Given the description of an element on the screen output the (x, y) to click on. 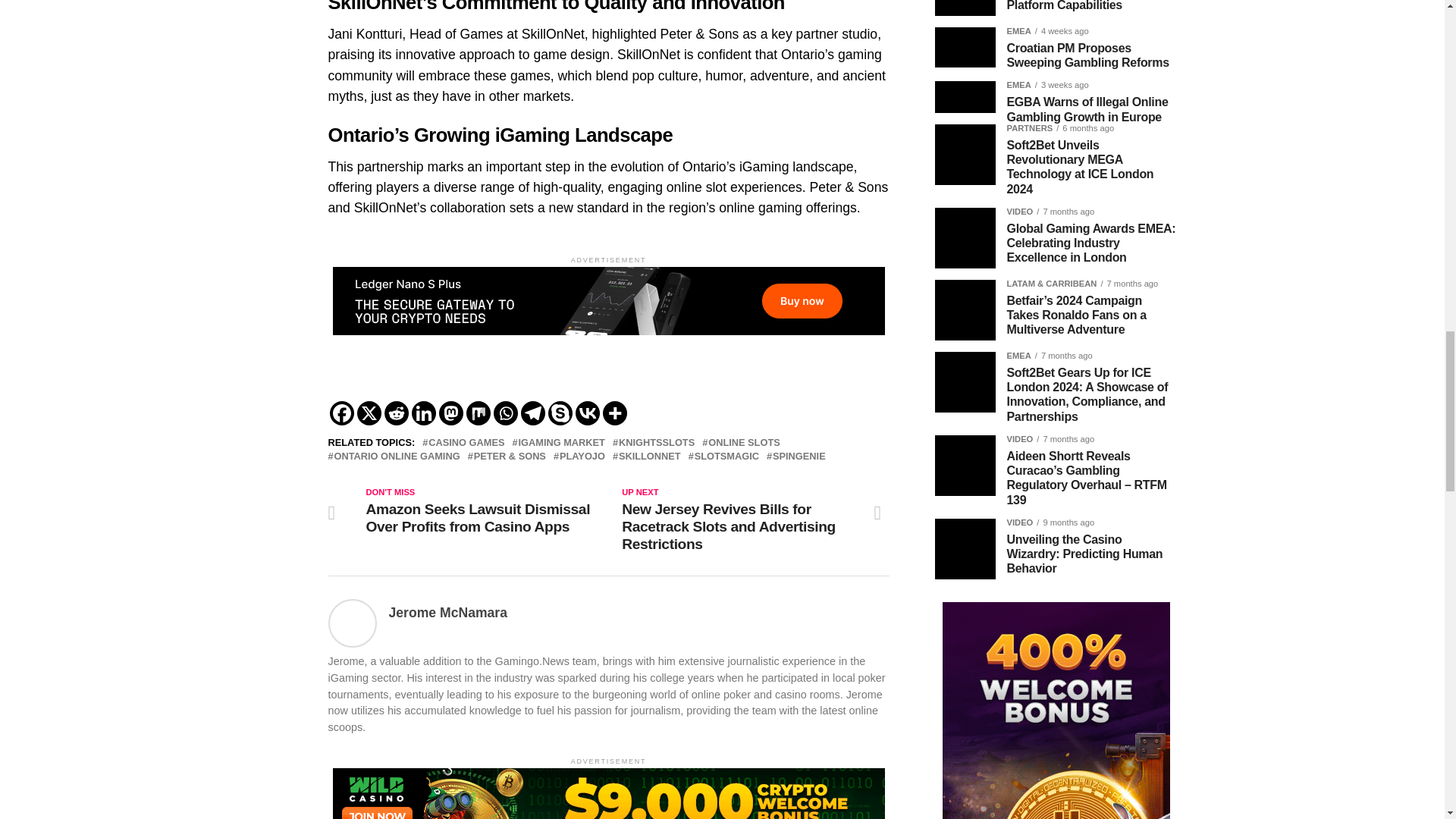
X (368, 413)
Reddit (395, 413)
Facebook (341, 413)
Mix (477, 413)
Whatsapp (504, 413)
Linkedin (422, 413)
Mastodon (450, 413)
